Given the description of an element on the screen output the (x, y) to click on. 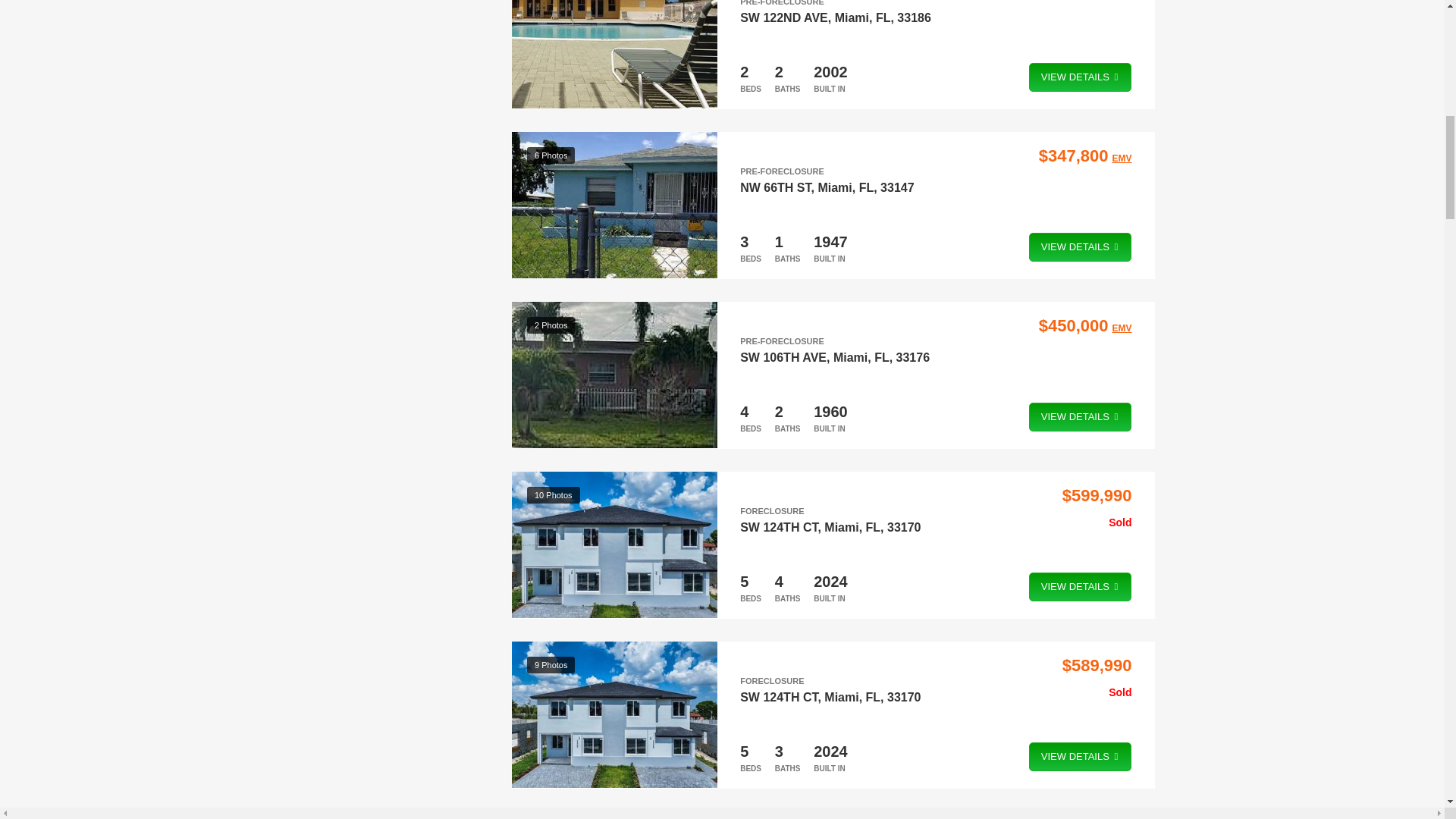
SW 106TH AVE (783, 356)
2 Photos (614, 375)
6 Photos (614, 205)
SW 124TH CT (777, 526)
10 Photos (614, 545)
VIEW DETAILS (1080, 586)
NW 66TH ST (774, 186)
6 Photos (614, 54)
SW 122ND AVE (783, 16)
VIEW DETAILS (1080, 77)
VIEW DETAILS (1080, 246)
VIEW DETAILS (1080, 416)
